Given the description of an element on the screen output the (x, y) to click on. 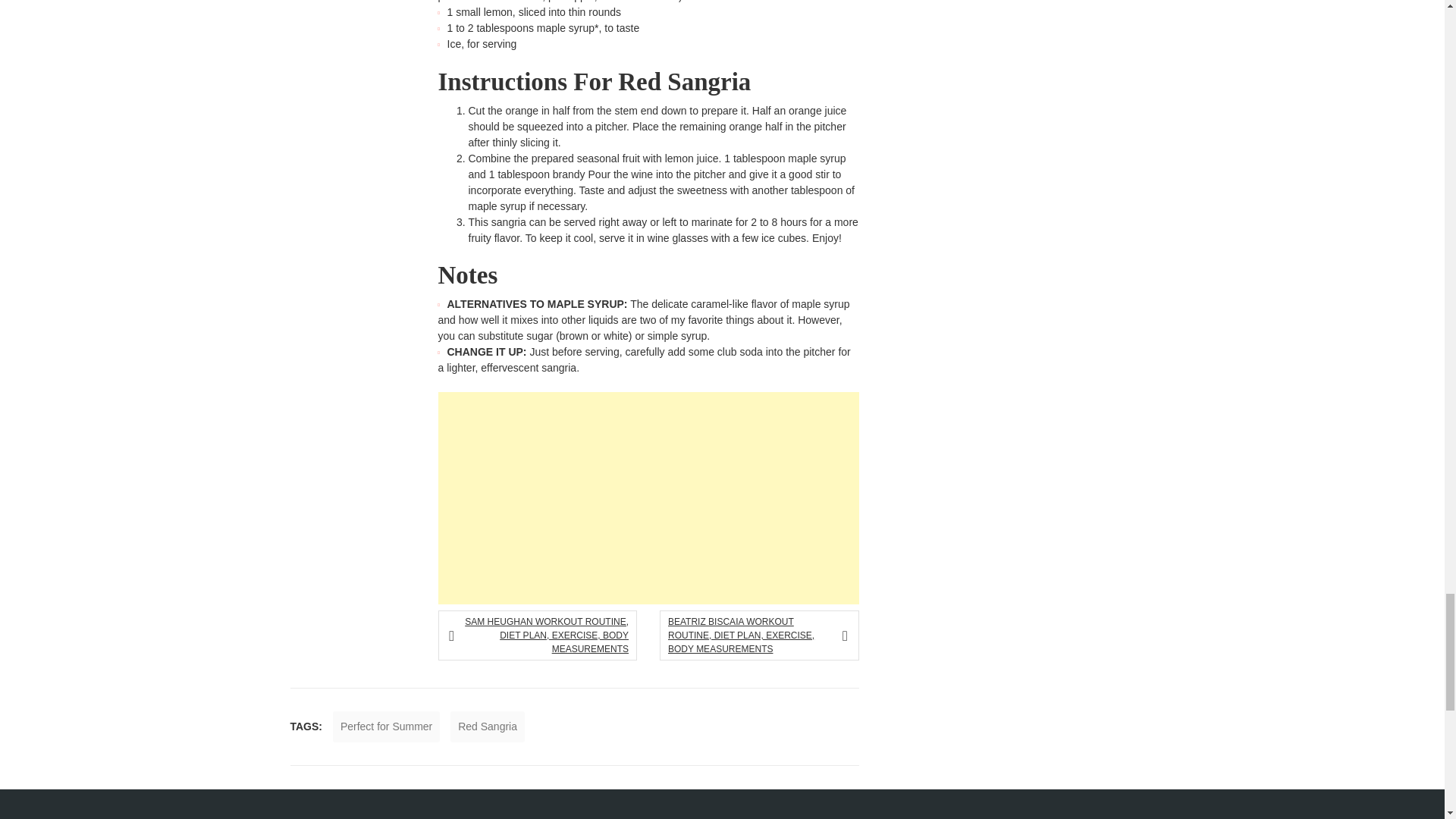
Perfect for Summer (386, 726)
Red Sangria (486, 726)
